Given the description of an element on the screen output the (x, y) to click on. 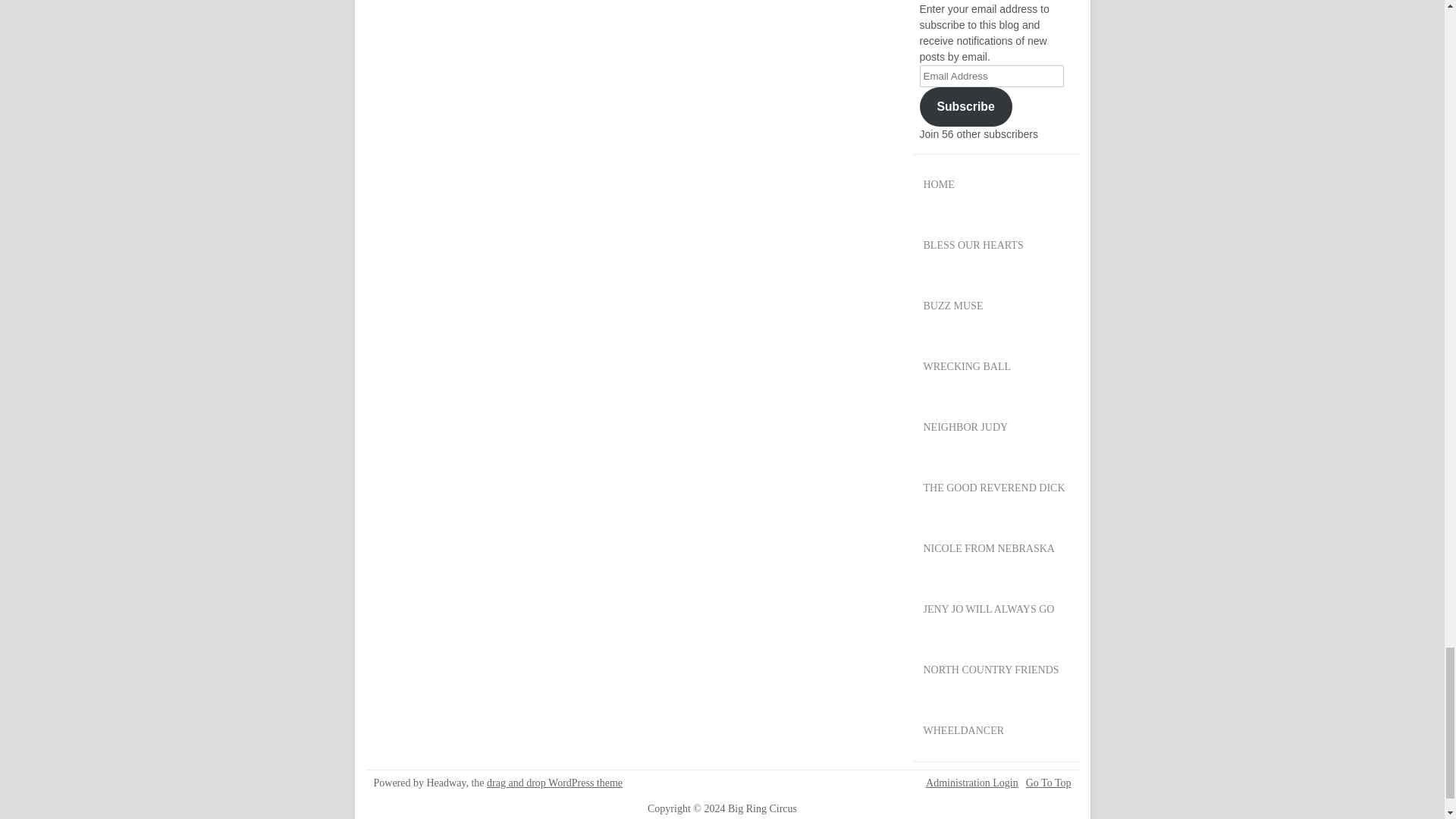
Headway Premium WordPress Theme (554, 782)
